Given the description of an element on the screen output the (x, y) to click on. 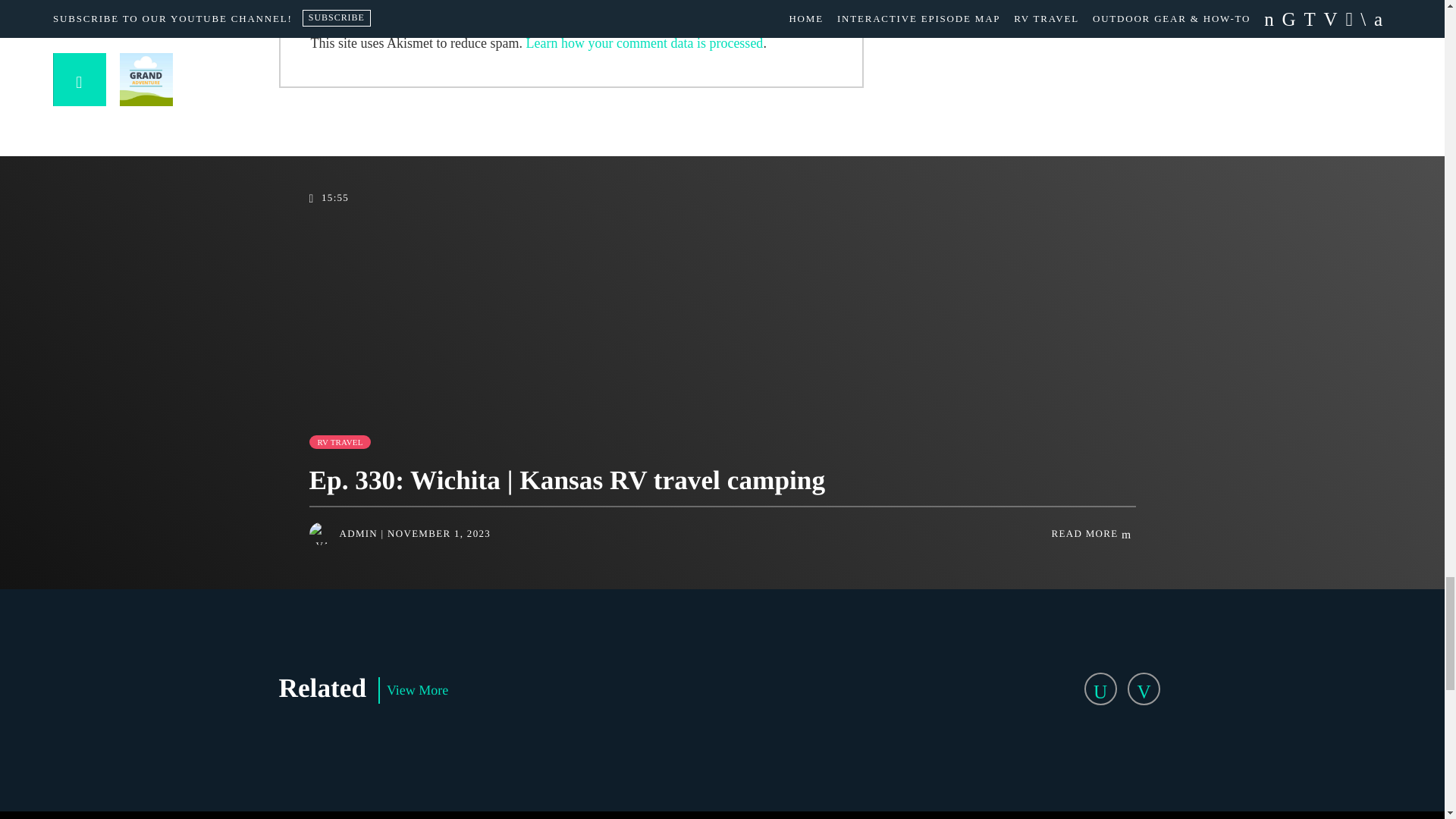
Comment Form (571, 3)
